Given the description of an element on the screen output the (x, y) to click on. 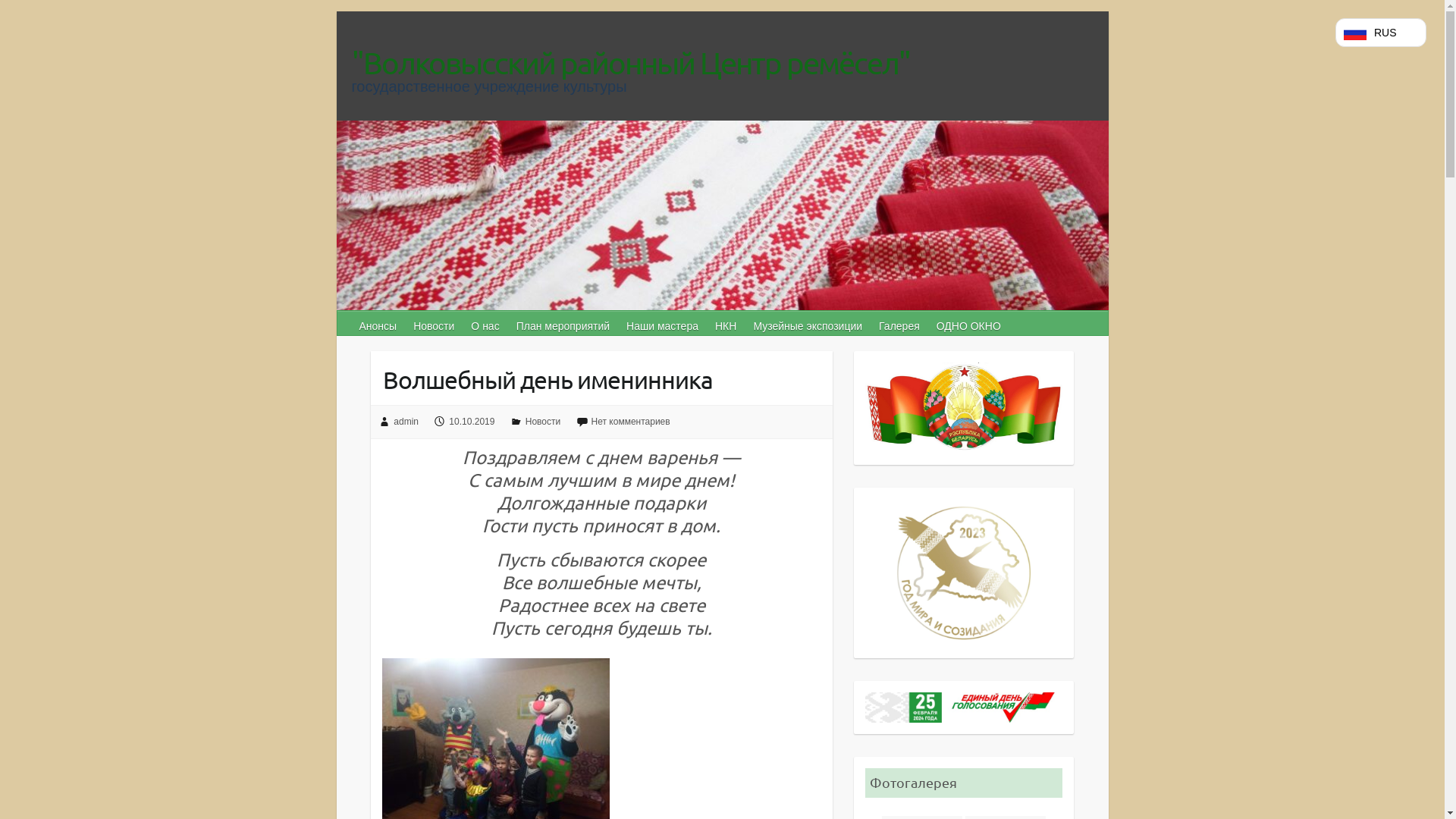
admin Element type: text (405, 421)
10.10.2019 Element type: text (471, 421)
